Given the description of an element on the screen output the (x, y) to click on. 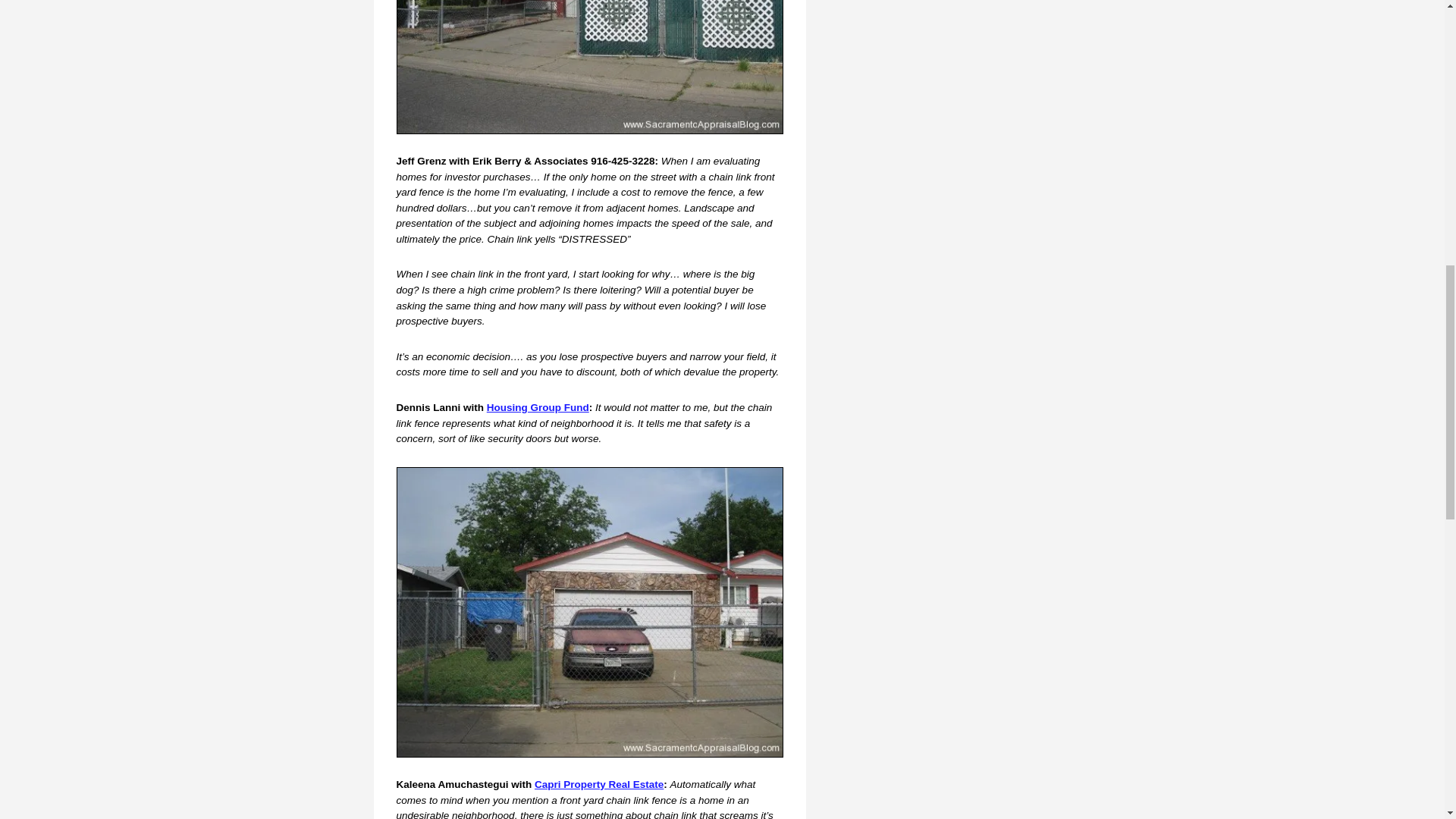
Capri Property Real Estate (598, 784)
Capri Property Real Estate (598, 784)
example of chain link fence (589, 611)
Housing Group Fund in Sacramento (537, 407)
example of chain link fence (589, 67)
Housing Group Fund (537, 407)
